Given the description of an element on the screen output the (x, y) to click on. 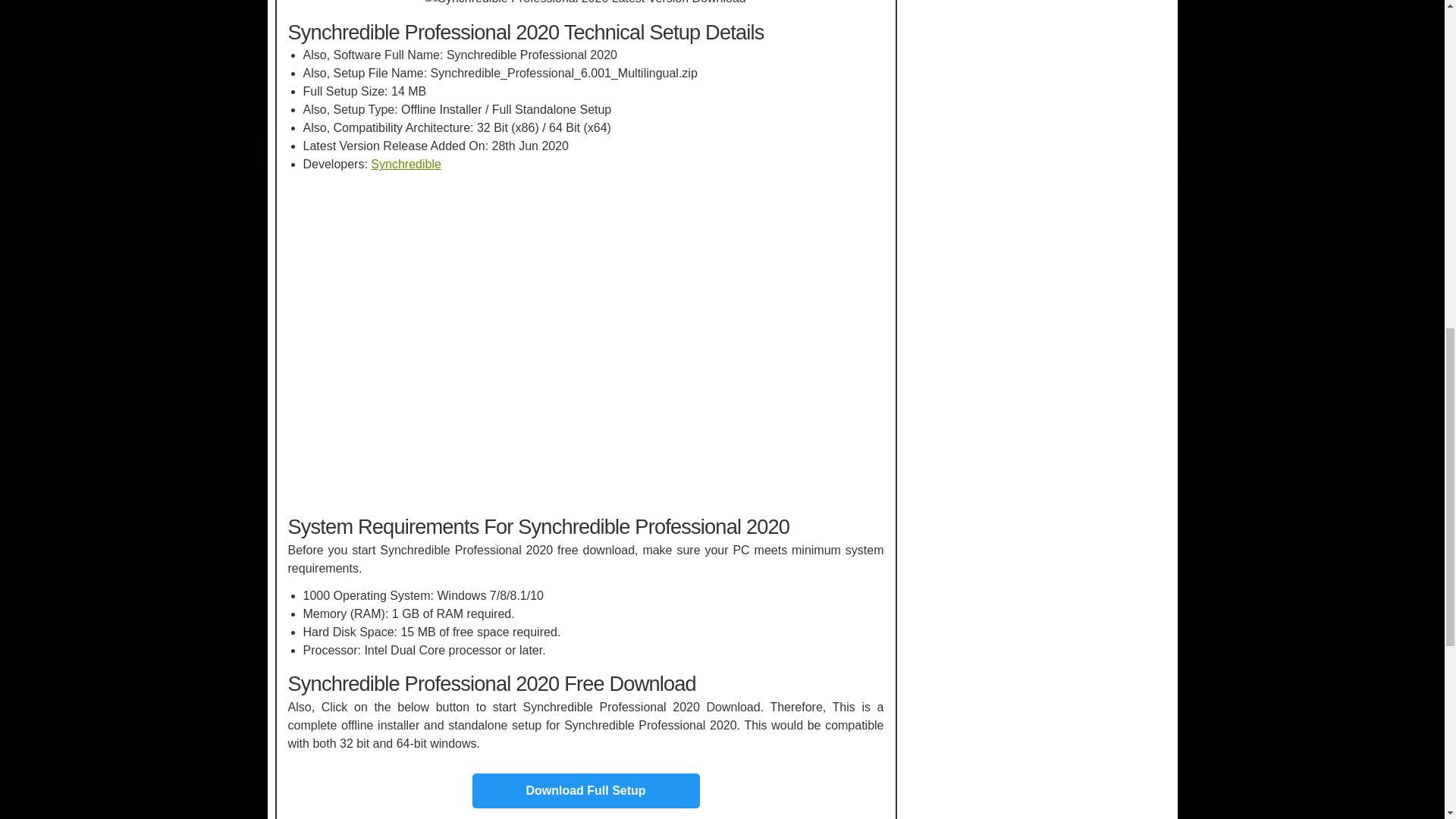
Synchredible (406, 164)
Download Full Setup (585, 785)
Complete Setup (584, 790)
Download Full Setup (584, 790)
